Given the description of an element on the screen output the (x, y) to click on. 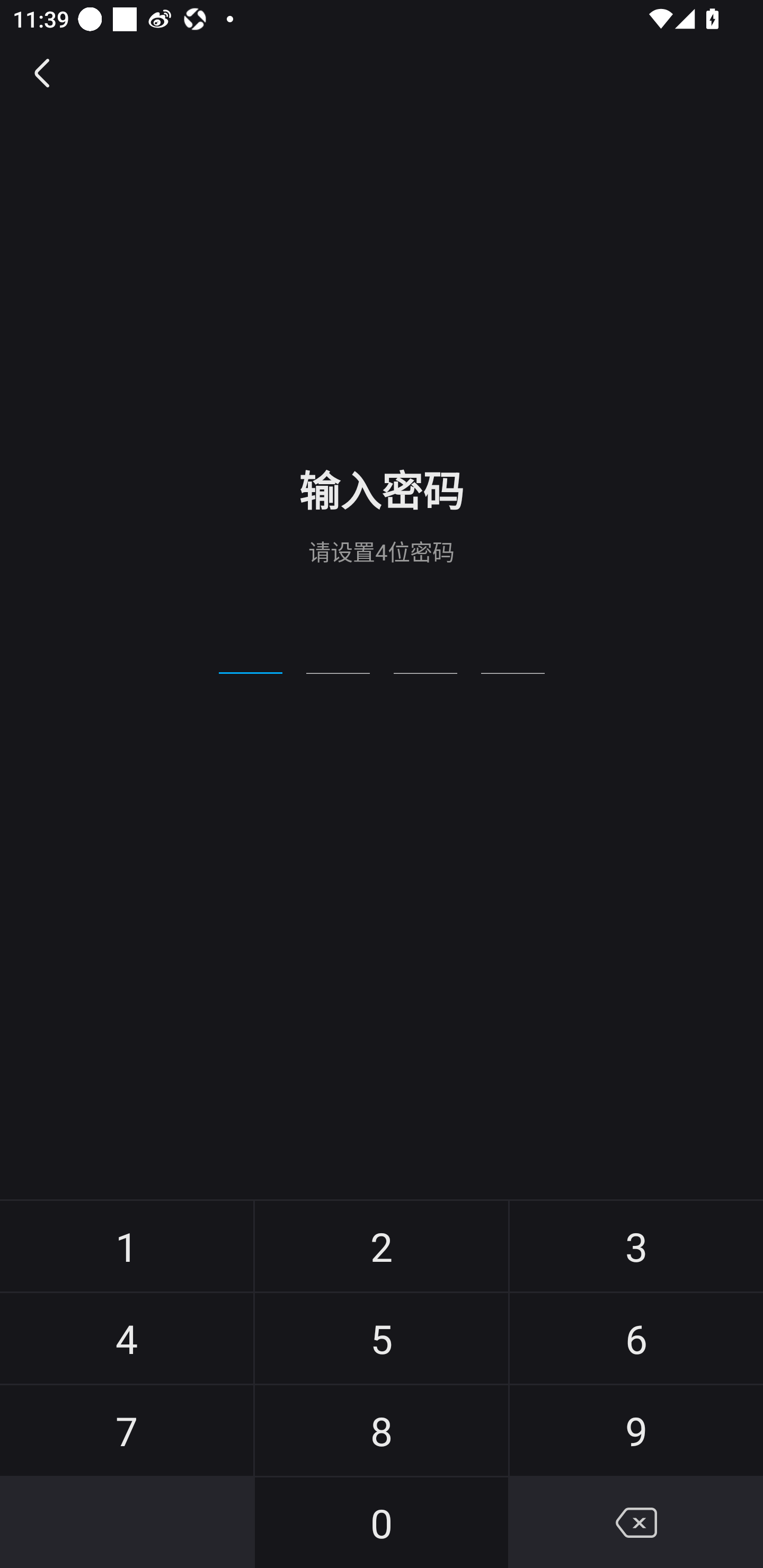
返回 (43, 72)
1 (126, 1246)
2 (381, 1246)
3 (636, 1246)
4 (126, 1337)
5 (381, 1337)
6 (636, 1337)
7 (126, 1429)
8 (381, 1429)
9 (636, 1429)
0 (381, 1522)
